Given the description of an element on the screen output the (x, y) to click on. 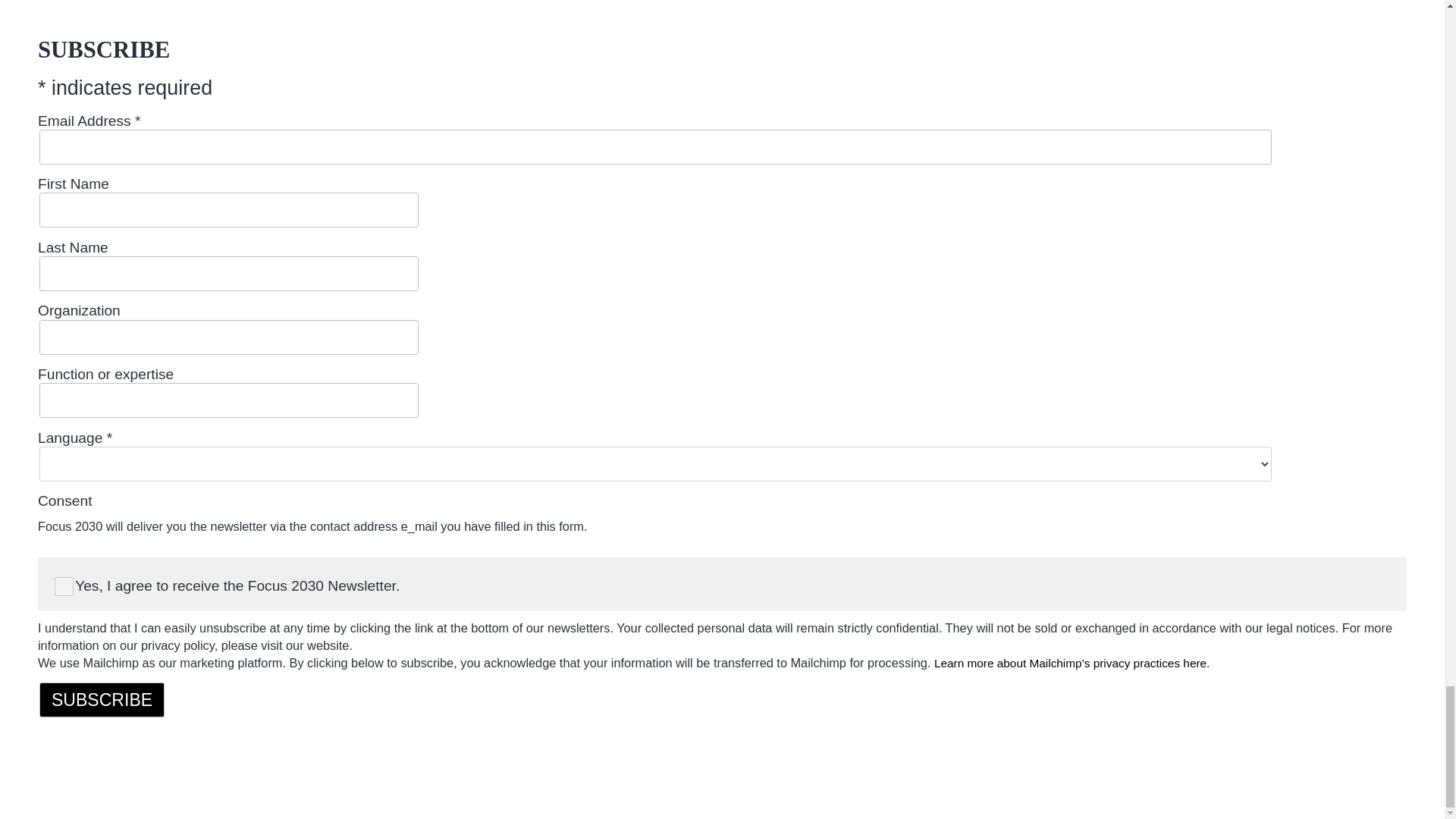
Subscribe (101, 699)
Y (64, 586)
